Given the description of an element on the screen output the (x, y) to click on. 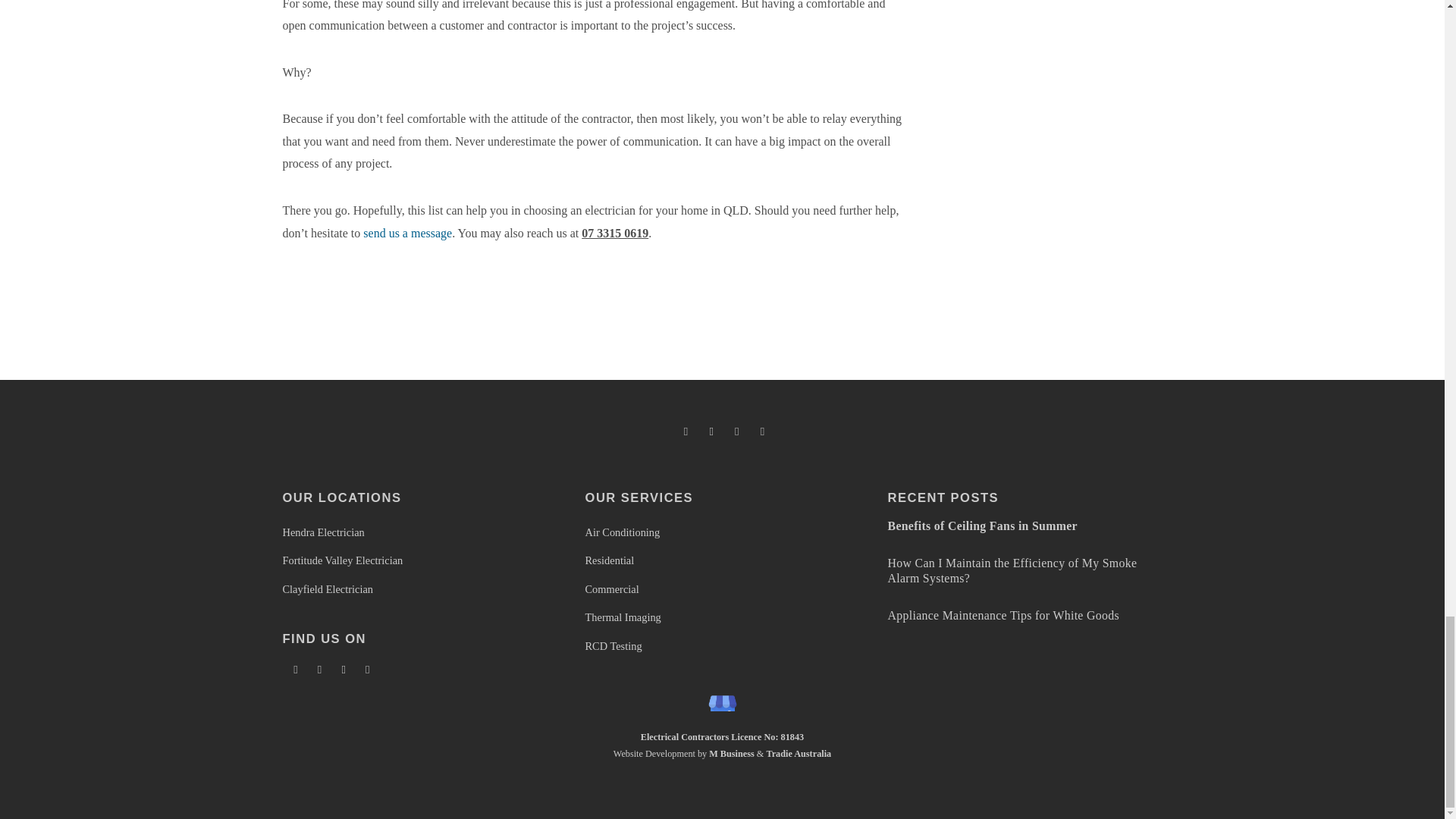
send us a message (406, 232)
Hendra Electrician (323, 532)
Air Conditioning (623, 532)
Fortitude Valley Electrician (342, 560)
Commercial (612, 589)
Residential (609, 560)
Clayfield Electrician (327, 589)
